Given the description of an element on the screen output the (x, y) to click on. 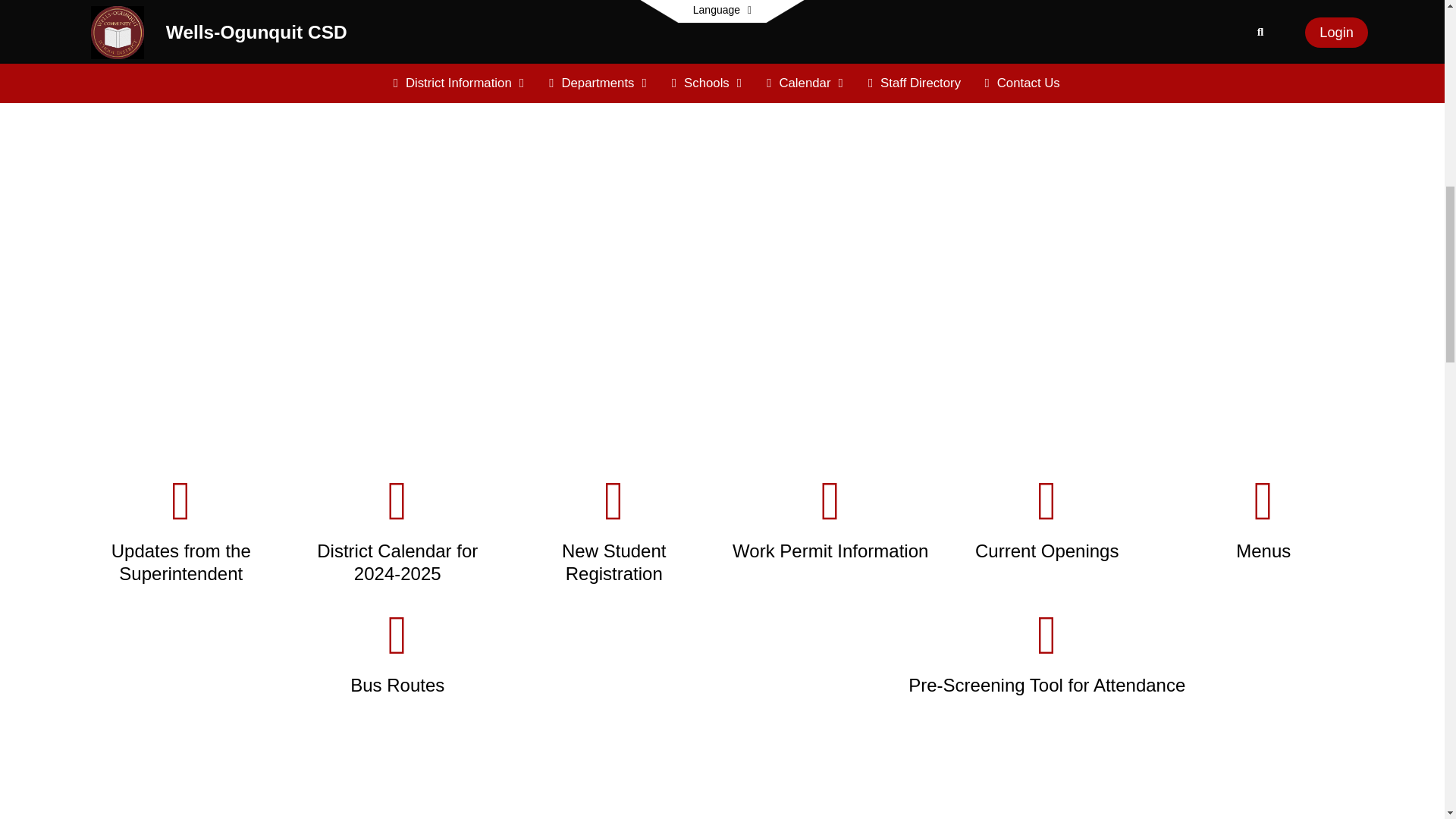
Updates from the Superintendent (181, 529)
Pre-Screening Tool for Attendance (1046, 652)
Current Openings (1047, 518)
District Calendar for 2024-2025 (398, 529)
New Student Registration (613, 529)
Work Permit Information (830, 518)
Bus Routes (397, 652)
Menus (1264, 518)
